Given the description of an element on the screen output the (x, y) to click on. 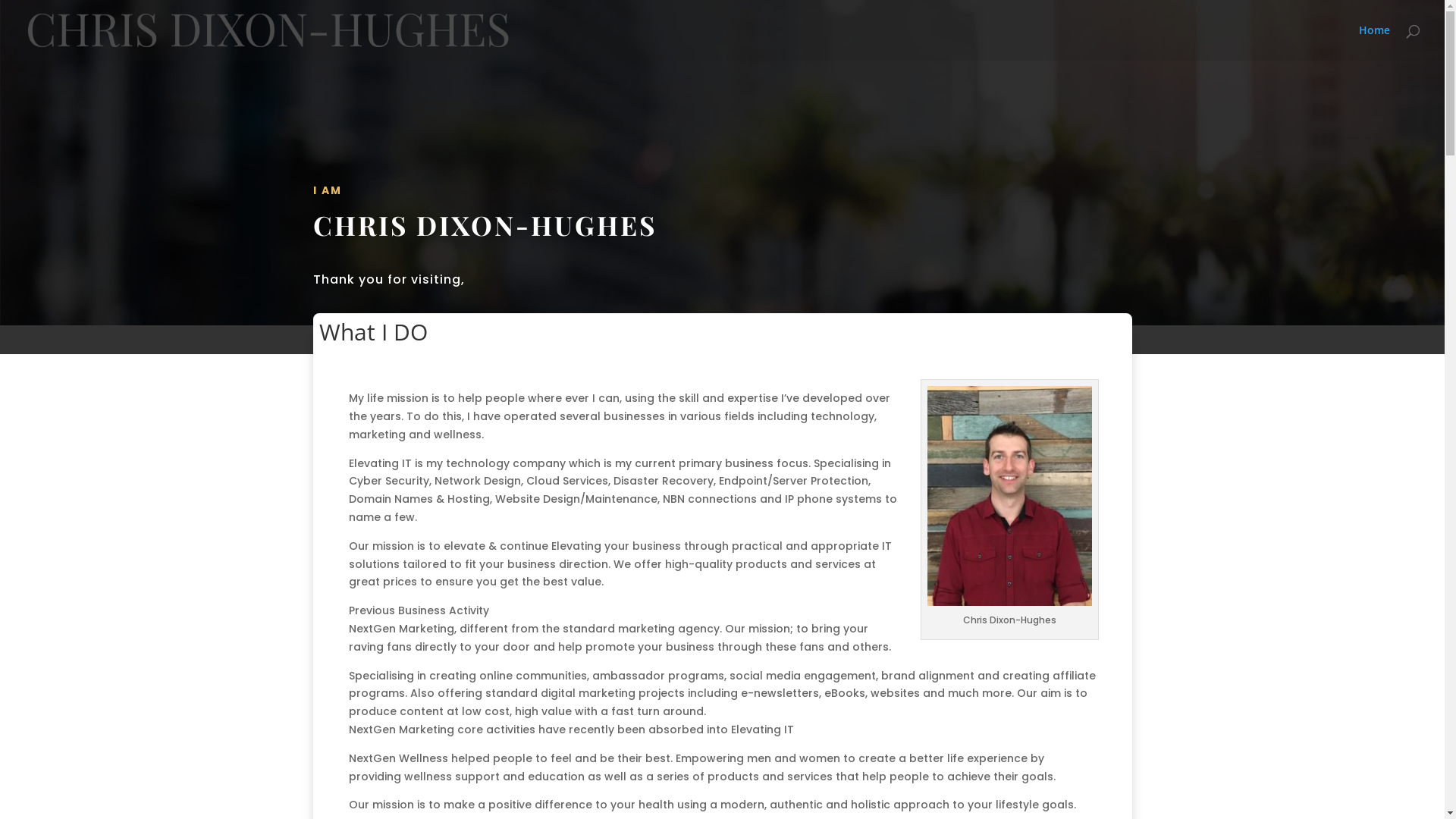
Home Element type: text (1374, 42)
